Given the description of an element on the screen output the (x, y) to click on. 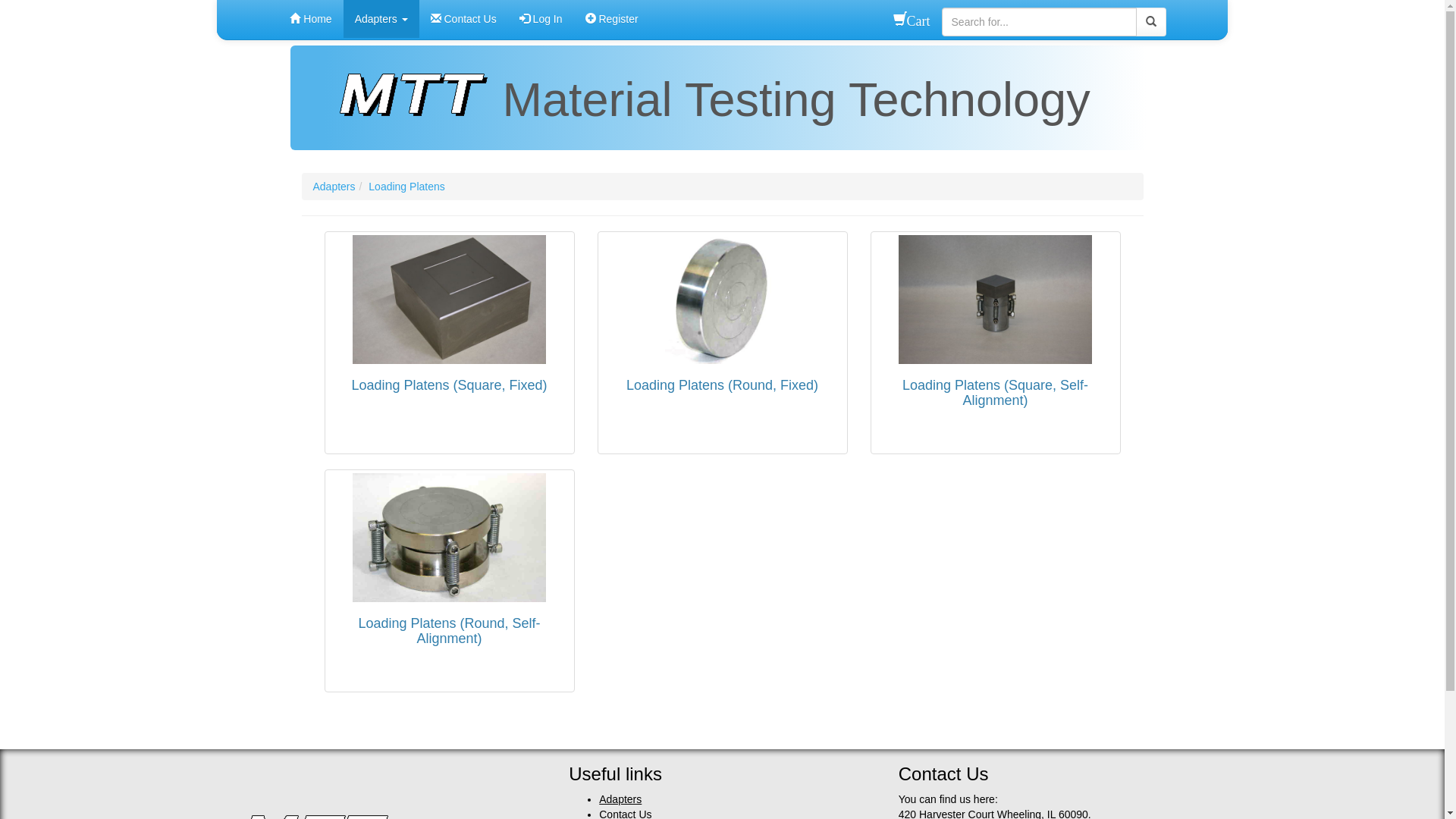
 Log In Element type: text (541, 18)
Adapters Element type: text (620, 799)
Cart Element type: text (911, 19)
Contact Us Element type: text (943, 773)
Adapters  Element type: text (381, 18)
 Register Element type: text (611, 18)
 Contact Us Element type: text (463, 18)
Adapters Element type: text (333, 186)
Loading Platens Element type: text (406, 186)
 Home Element type: text (310, 18)
